Given the description of an element on the screen output the (x, y) to click on. 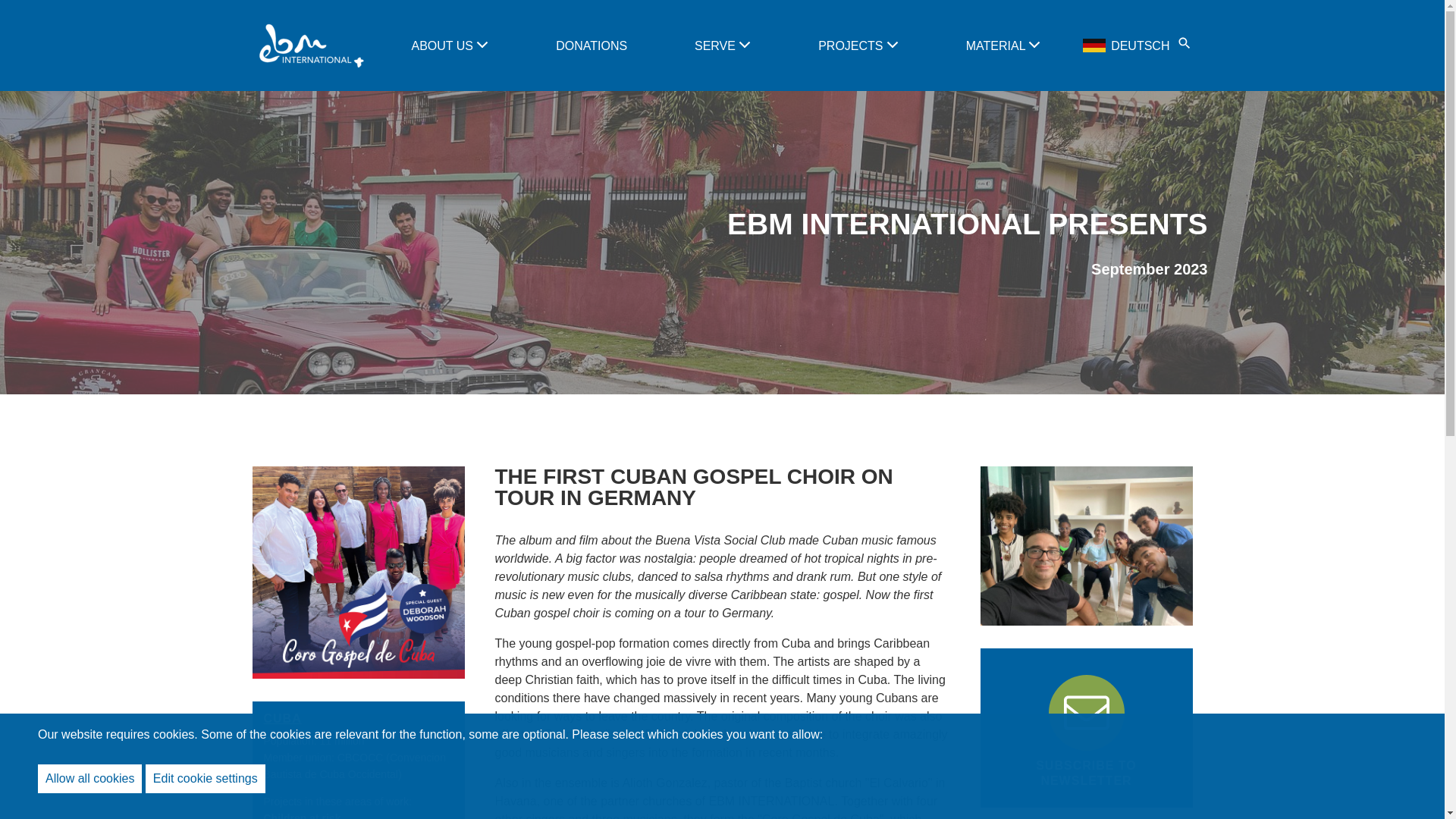
SERVE (716, 45)
ABOUT US (443, 45)
PROJECTS (852, 45)
Logo ebm international (309, 45)
DEUTSCH (1126, 45)
SUBSCRIBE TO NEWSLETTER (1085, 727)
MATERIAL (997, 45)
CUBA (282, 717)
DONATIONS (591, 45)
